Given the description of an element on the screen output the (x, y) to click on. 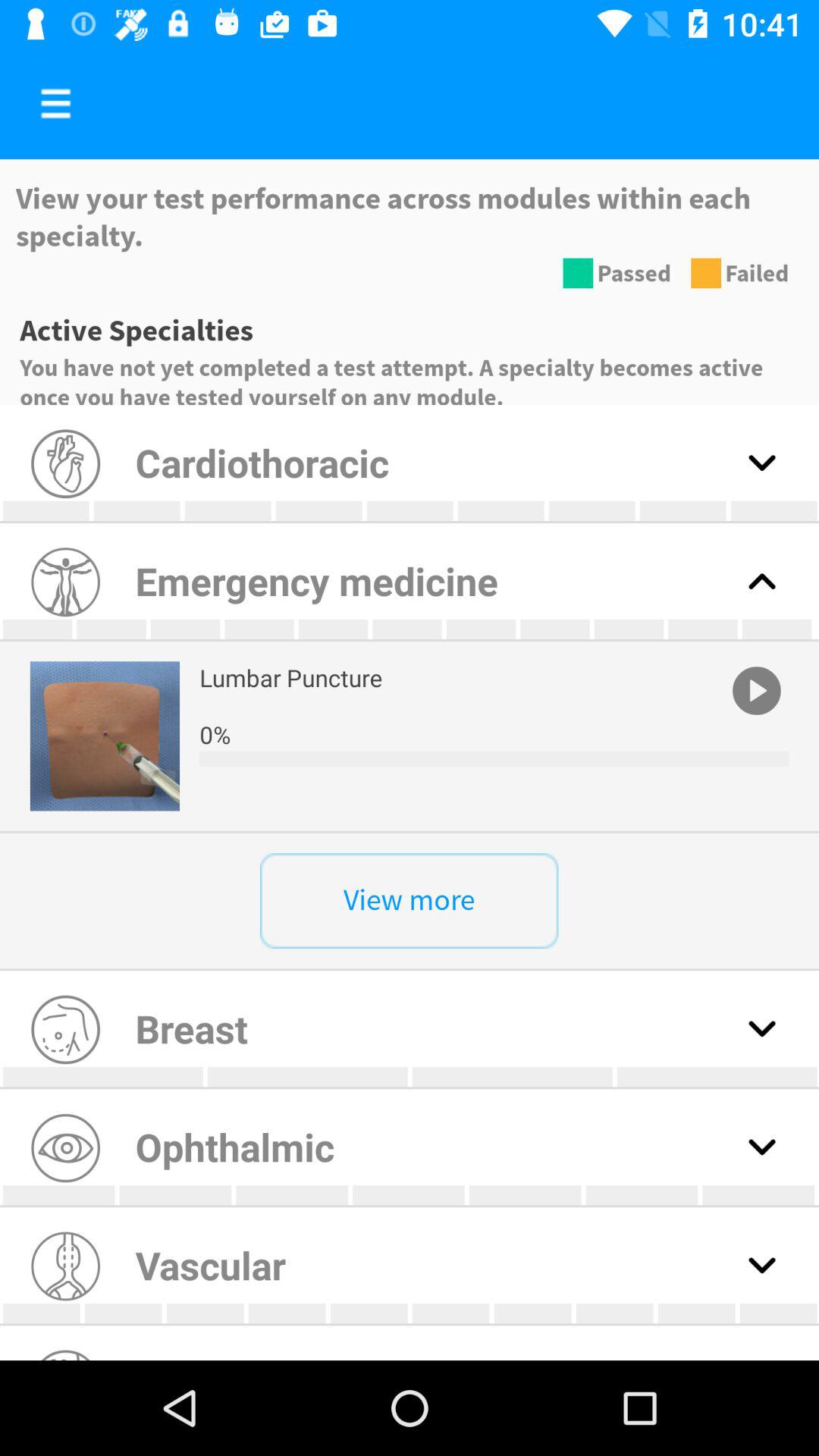
click on the down arrow button to the right of the text vascular (762, 1264)
